Given the description of an element on the screen output the (x, y) to click on. 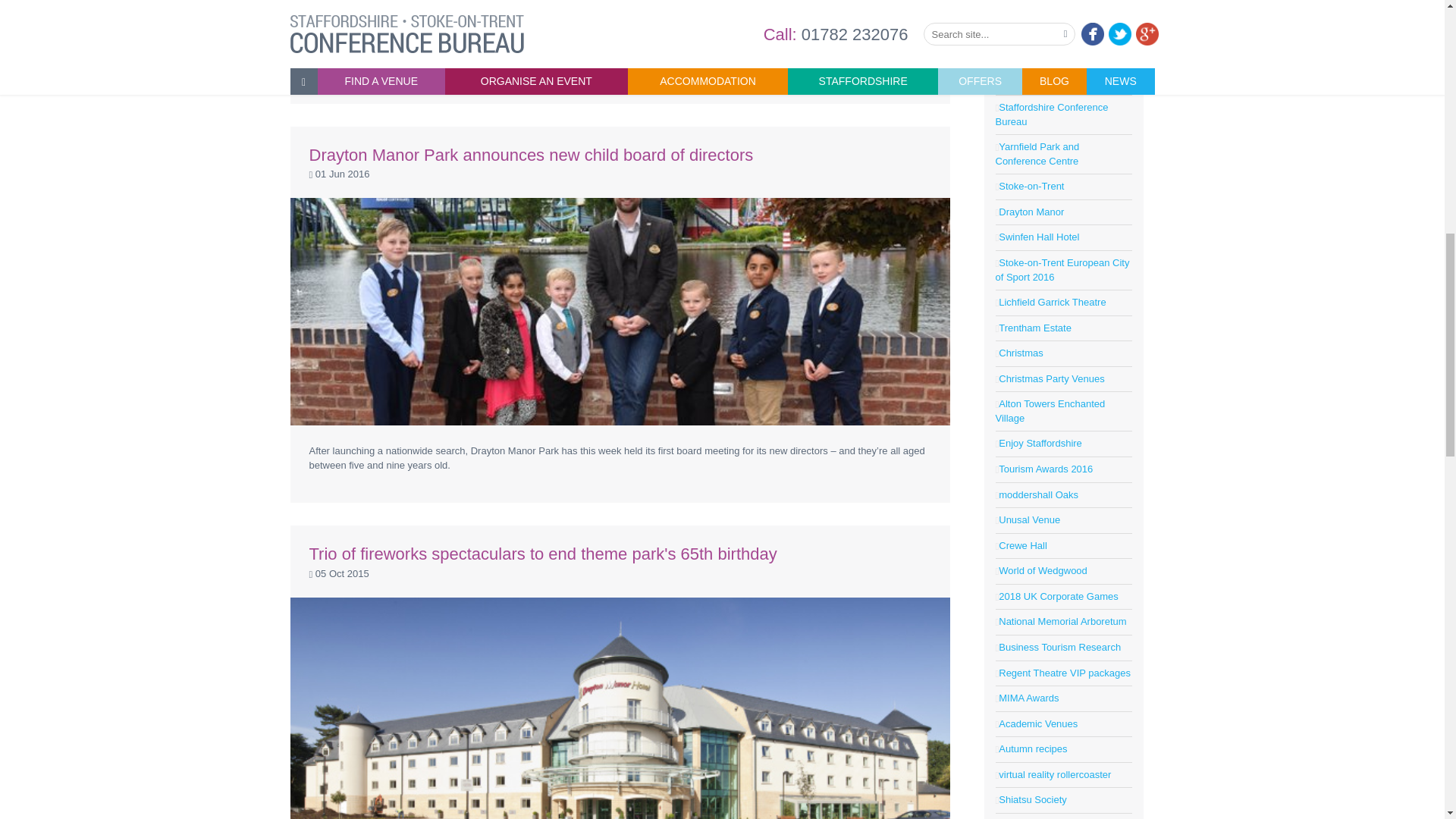
Drayton Manor Park announces new child board of directors (531, 154)
